Given the description of an element on the screen output the (x, y) to click on. 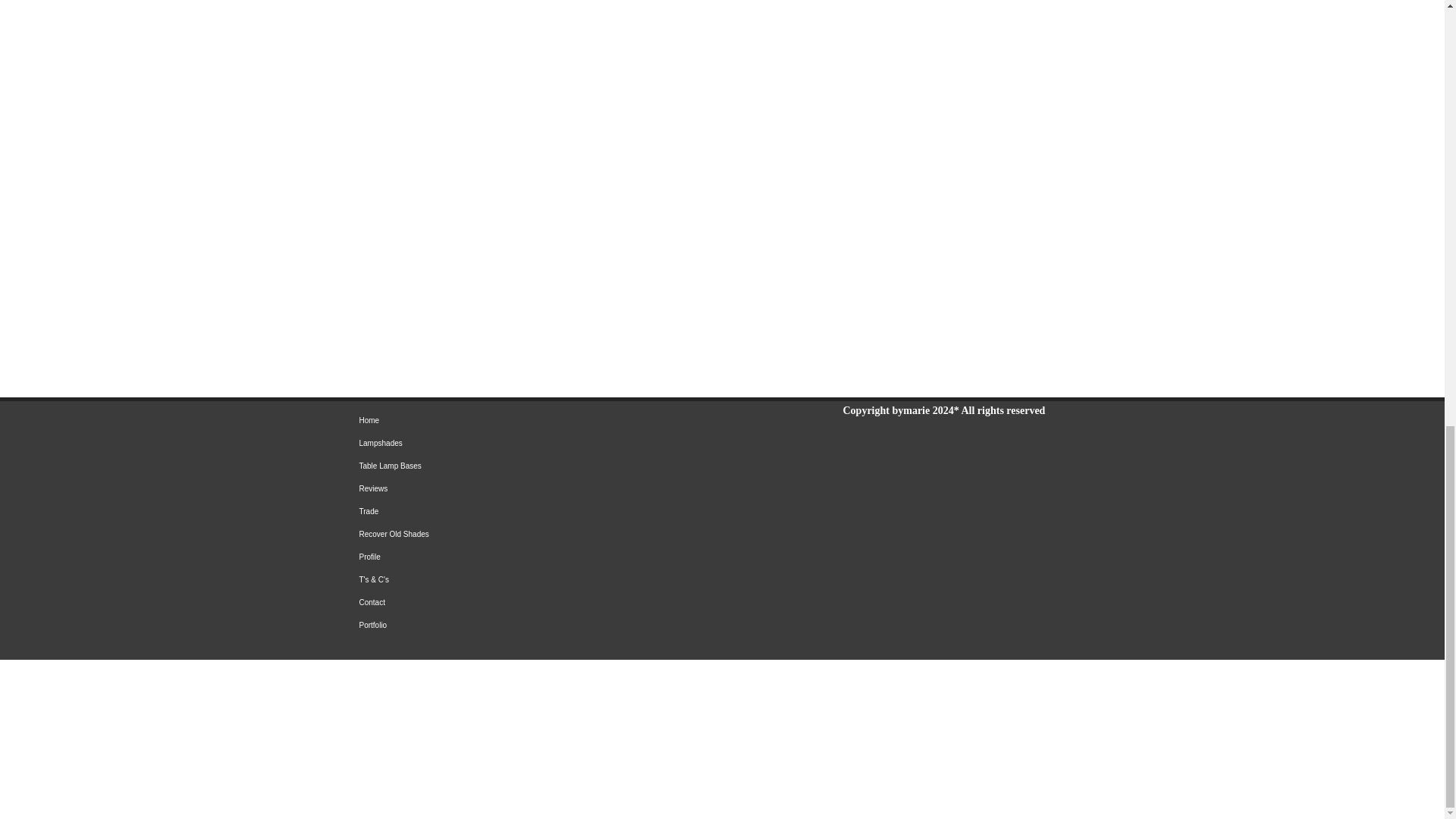
Recover Old Shades (505, 534)
Lampshades (505, 443)
Profile (505, 557)
Portfolio (505, 625)
Contact (505, 602)
Home (505, 420)
Reviews (505, 488)
Table Lamp Bases (505, 466)
Trade (505, 511)
